Given the description of an element on the screen output the (x, y) to click on. 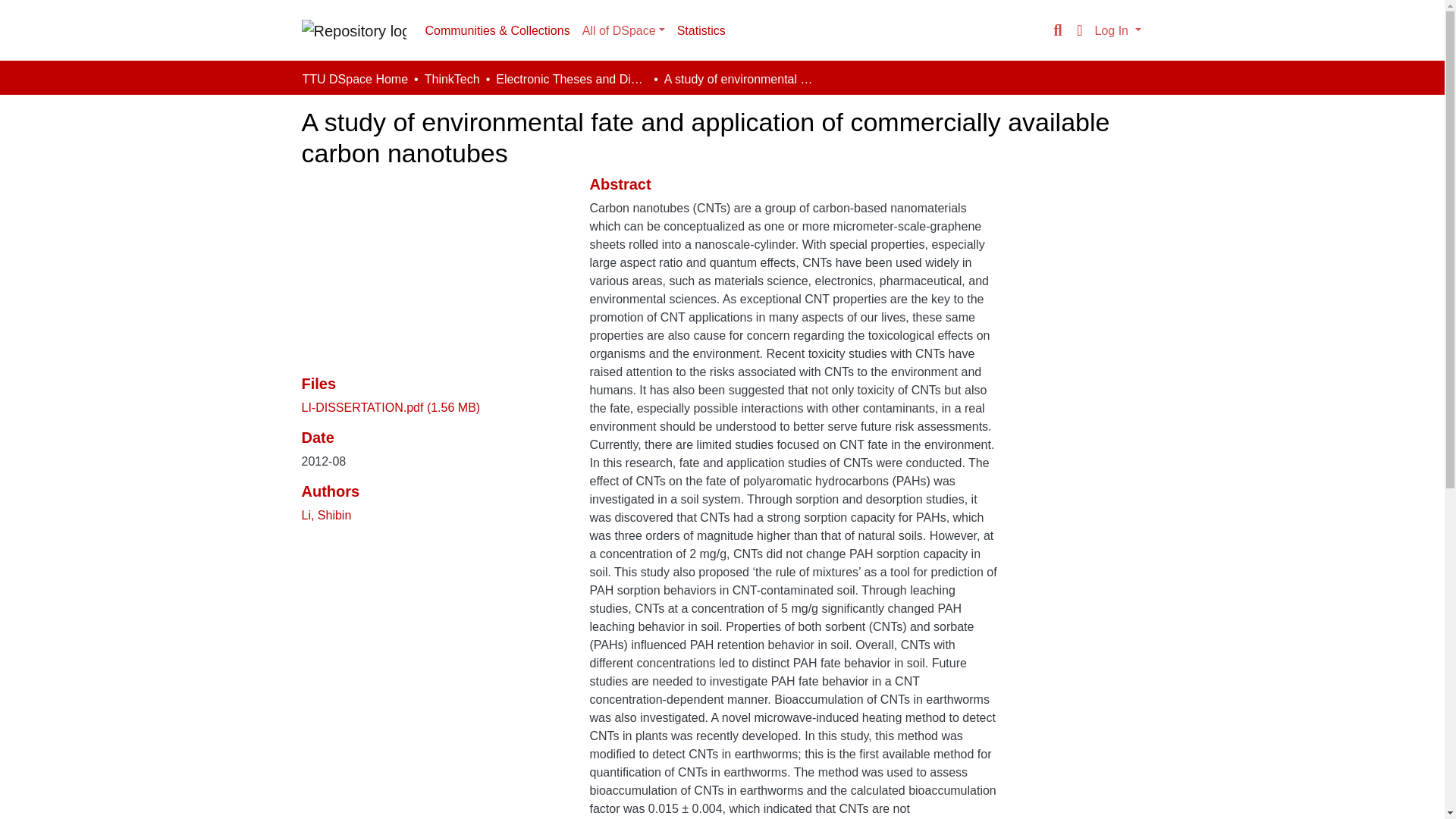
Statistics (701, 30)
All of DSpace (623, 30)
Language switch (1079, 30)
Search (1057, 30)
Statistics (701, 30)
Electronic Theses and Dissertations (571, 79)
TTU DSpace Home (354, 79)
Log In (1117, 30)
Li, Shibin (326, 514)
ThinkTech (452, 79)
